Given the description of an element on the screen output the (x, y) to click on. 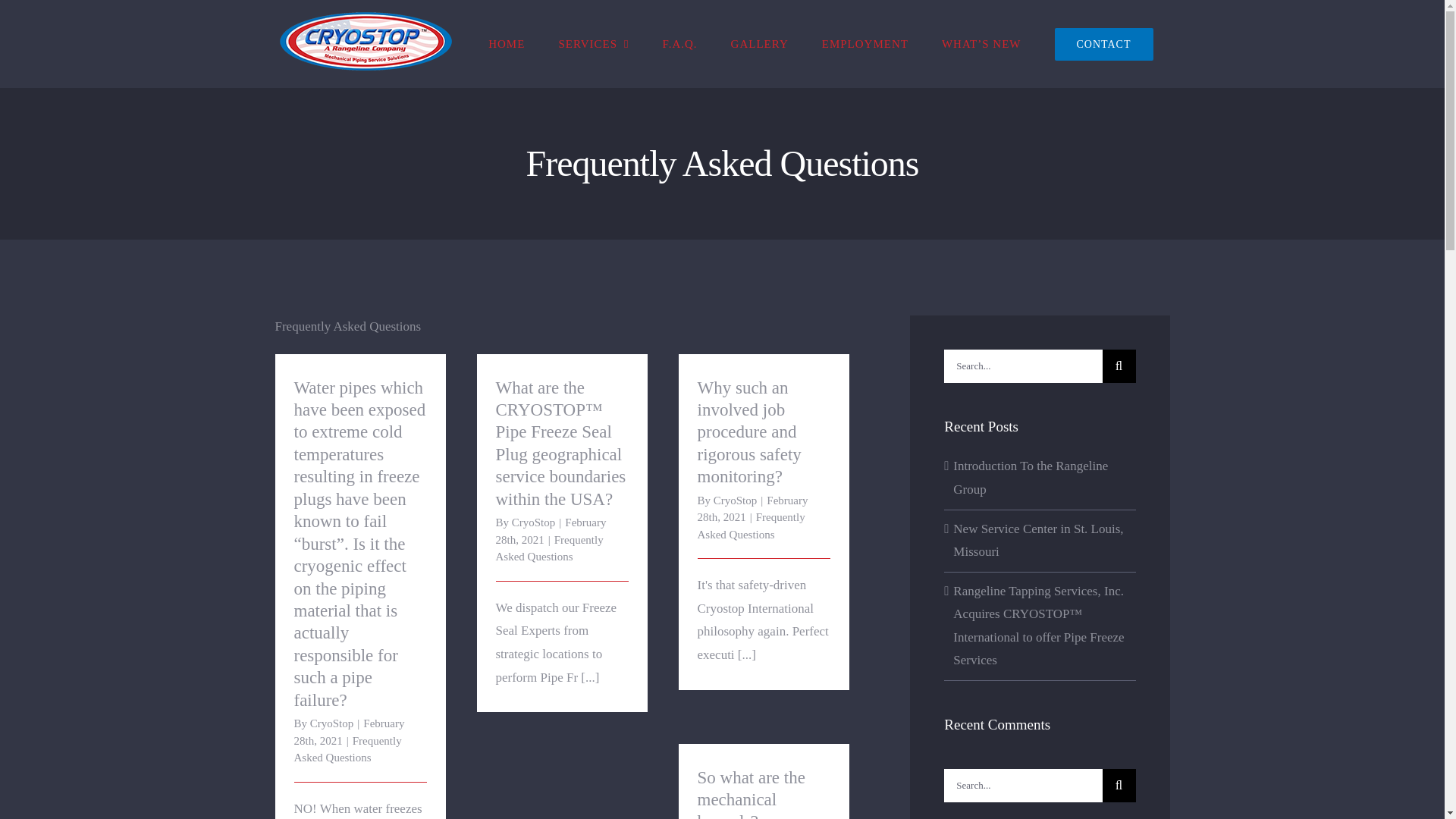
Posts by CryoStop (735, 500)
Frequently Asked Questions (550, 548)
Frequently Asked Questions (347, 749)
CONTACT (1102, 43)
EMPLOYMENT (864, 43)
CryoStop (331, 723)
SERVICES (593, 43)
CryoStop (534, 522)
So what are the mechanical hazards? (751, 793)
